Given the description of an element on the screen output the (x, y) to click on. 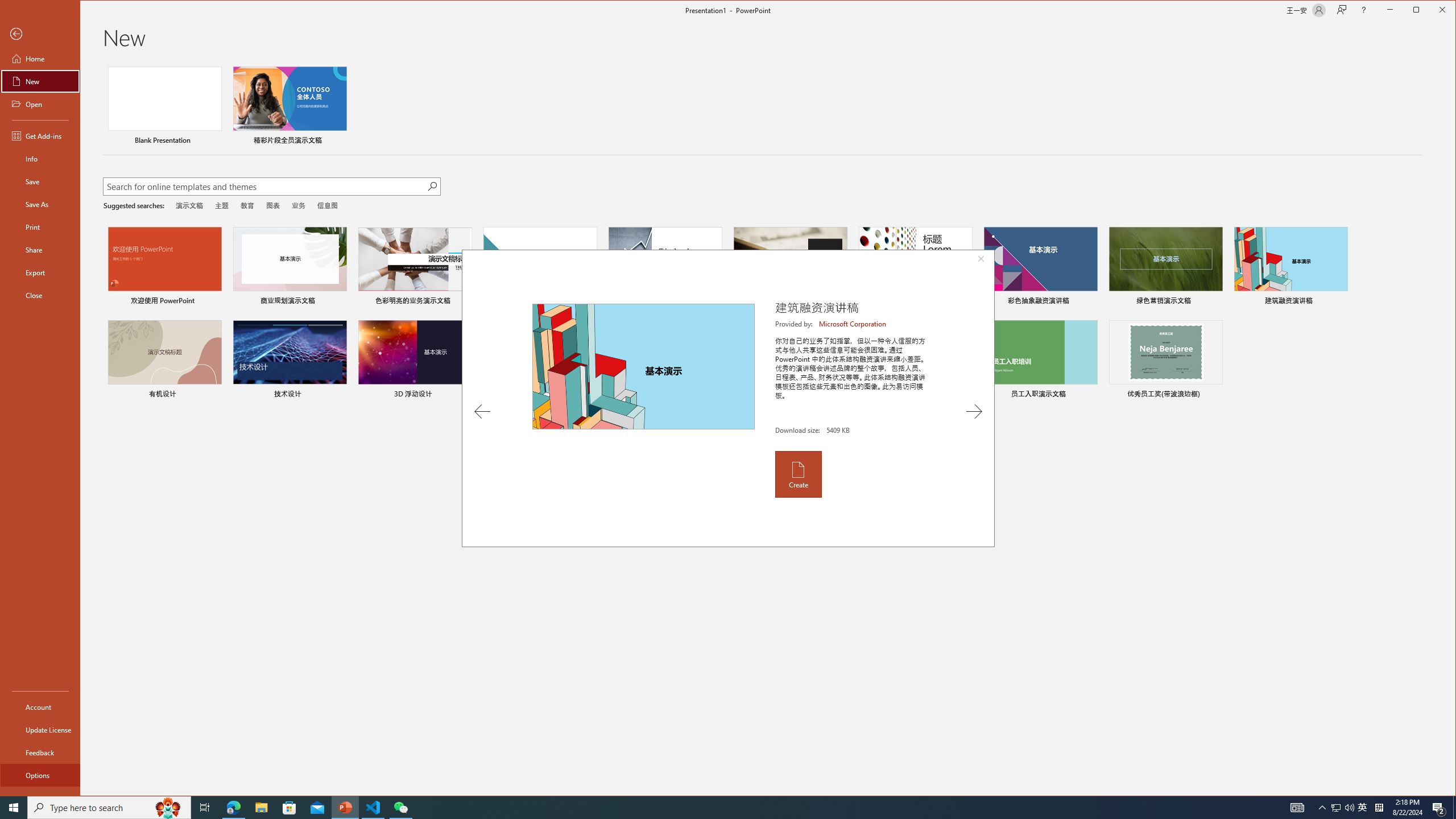
Pin to list (1215, 395)
Save As (40, 203)
Print (40, 226)
Next Template (974, 411)
Info (40, 158)
New (40, 80)
